Given the description of an element on the screen output the (x, y) to click on. 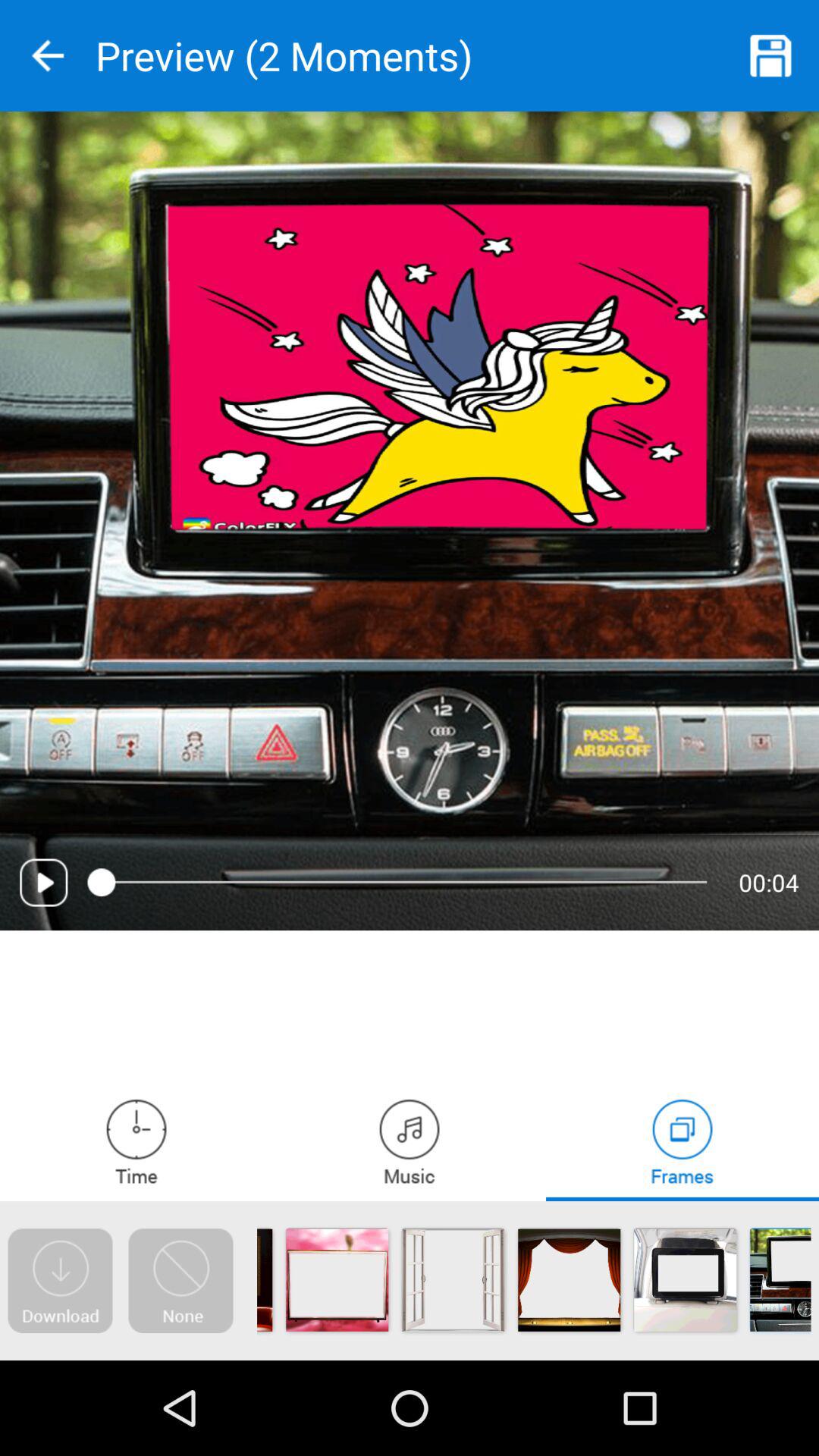
play music (409, 1141)
